Given the description of an element on the screen output the (x, y) to click on. 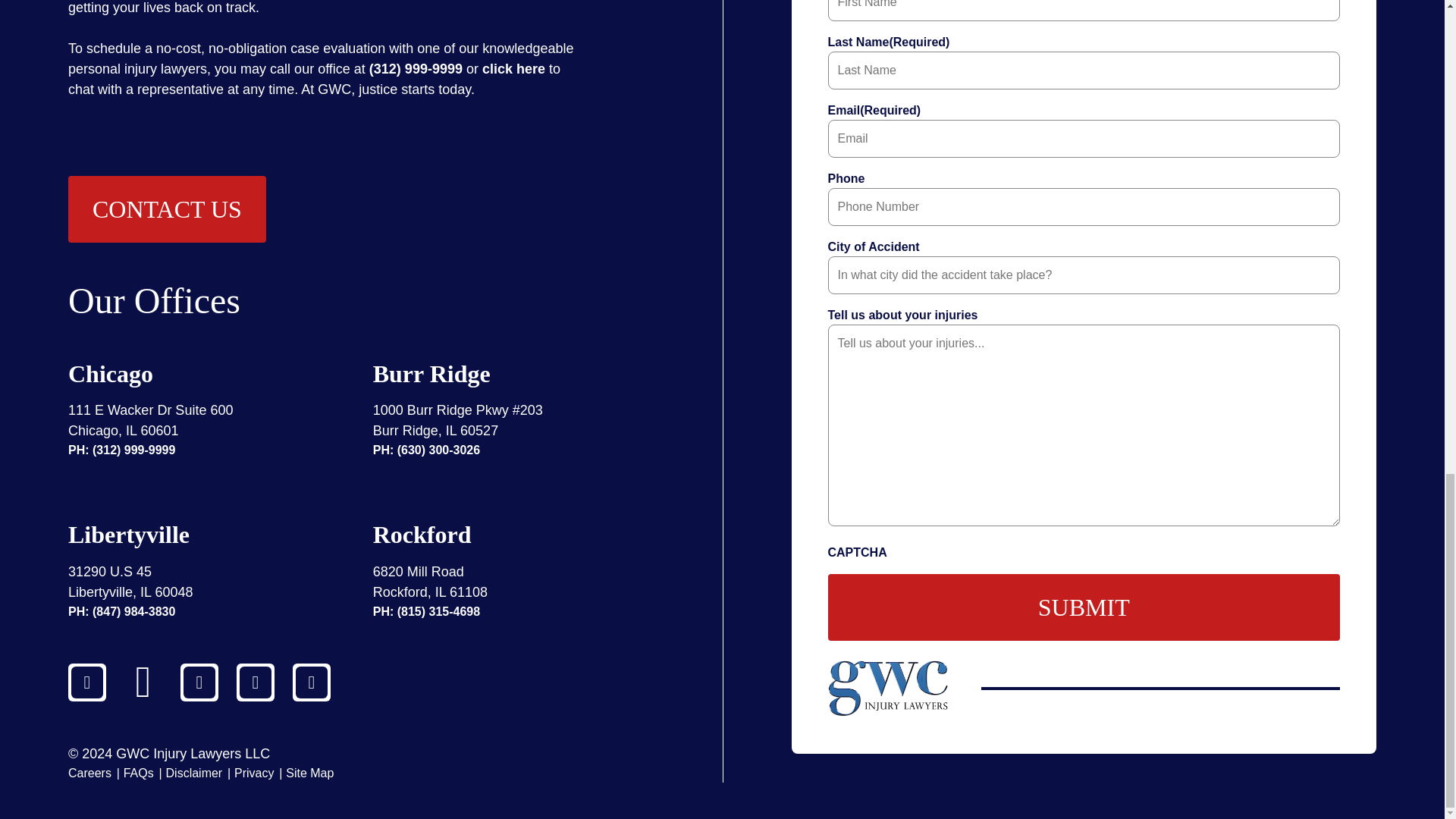
Submit (1084, 607)
